Given the description of an element on the screen output the (x, y) to click on. 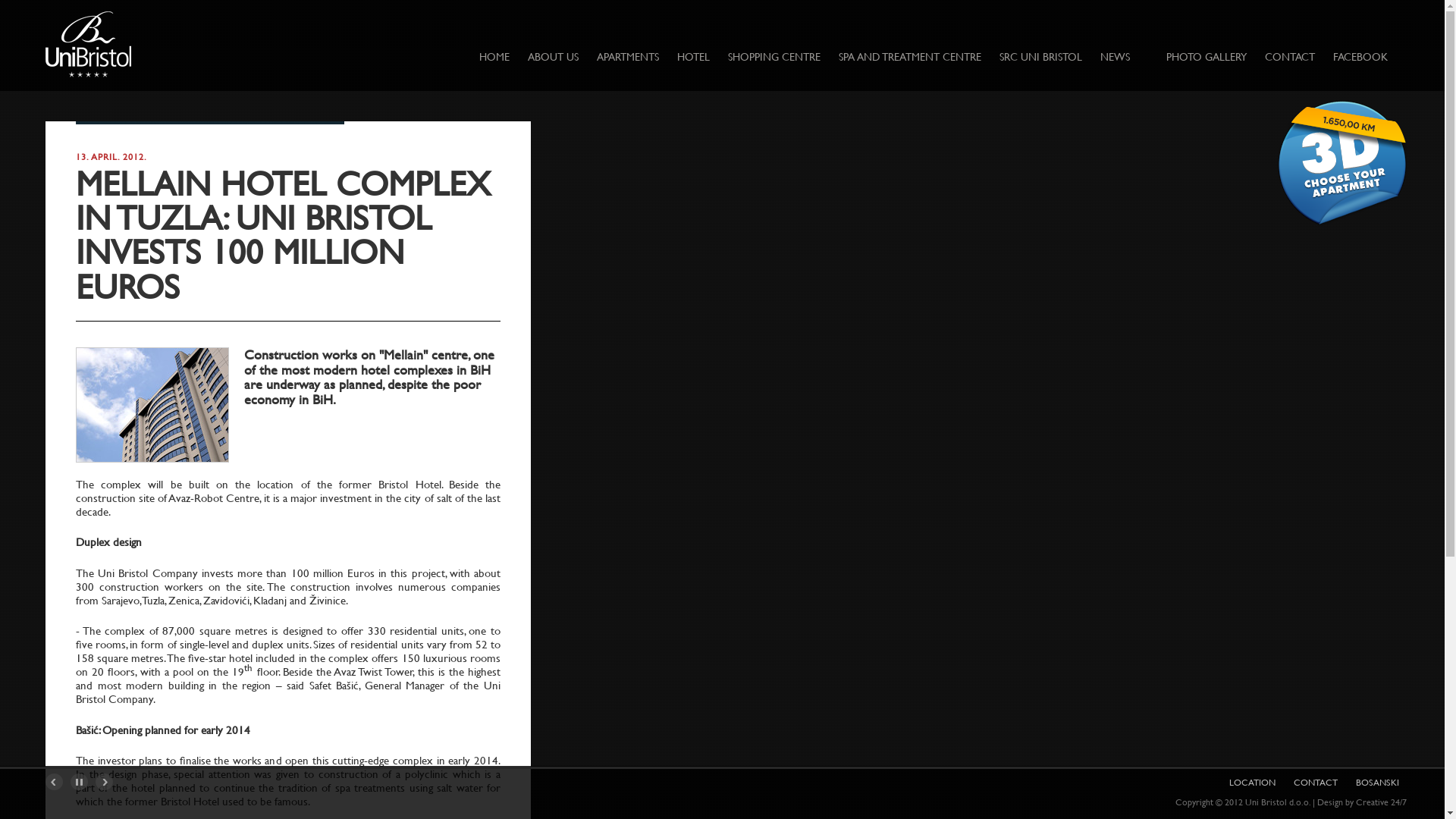
NEWS Element type: text (1114, 57)
PHOTO GALLERY Element type: text (1206, 57)
CONTACT Element type: text (1289, 57)
FACEBOOK Element type: text (1360, 57)
LOCATION Element type: text (1252, 782)
Creative 24/7 Element type: text (1380, 802)
SPA AND TREATMENT CENTRE Element type: text (909, 57)
SHOPPING CENTRE Element type: text (774, 57)
ABOUT US Element type: text (553, 57)
CONTACT Element type: text (1315, 782)
HOME Element type: text (494, 57)
Izaberi stan Element type: text (1341, 164)
SRC UNI BRISTOL Element type: text (1040, 57)
BOSANSKI Element type: text (1377, 782)
APARTMENTS Element type: text (627, 57)
HOTEL Element type: text (693, 57)
